Given the description of an element on the screen output the (x, y) to click on. 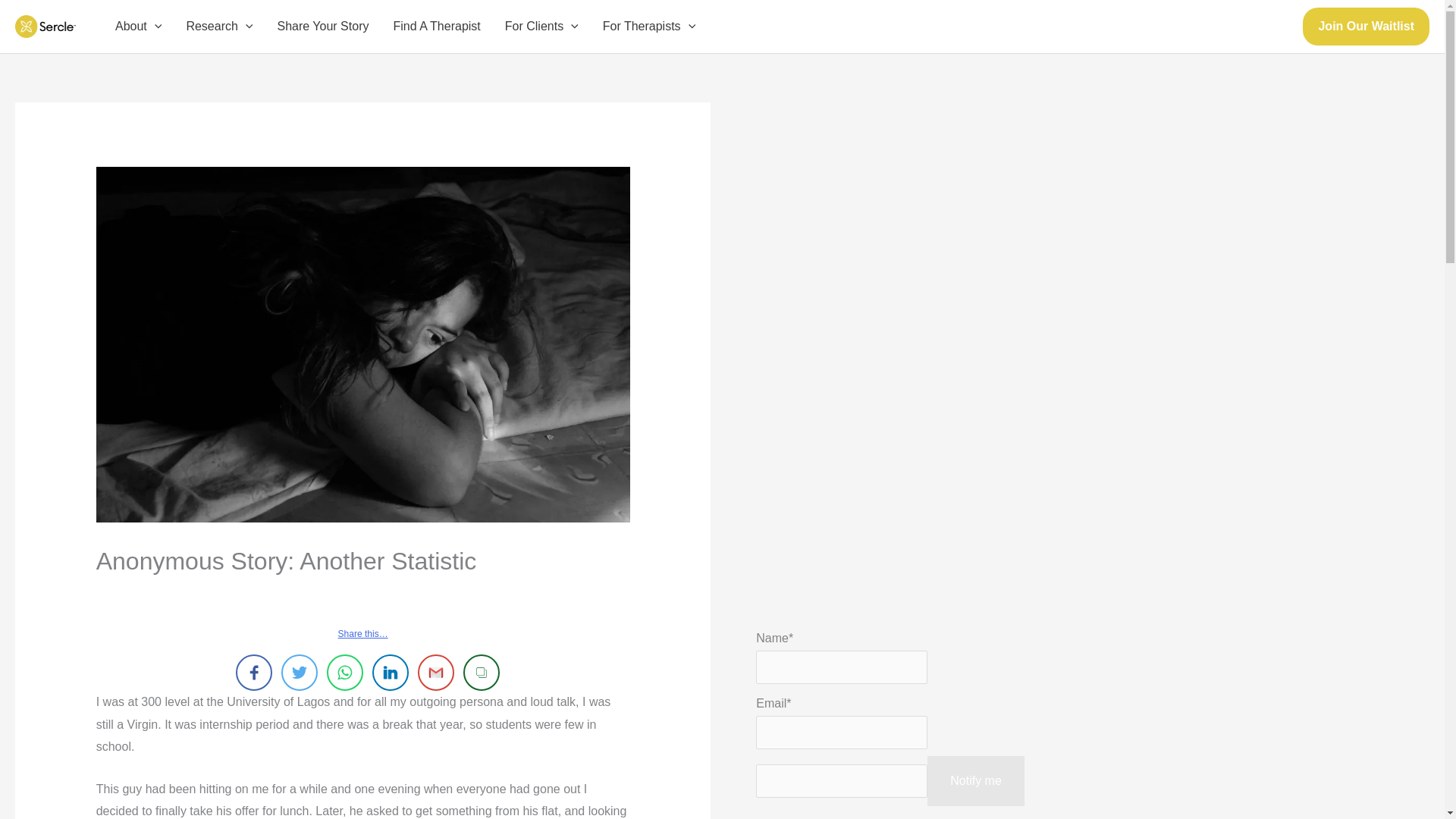
For Clients (542, 26)
Find A Therapist (436, 26)
Research (218, 26)
Share Your Story (322, 26)
Notify me (976, 780)
For Therapists (649, 26)
About (138, 26)
View all posts by Admin (389, 592)
Join Our Waitlist (1366, 26)
